Given the description of an element on the screen output the (x, y) to click on. 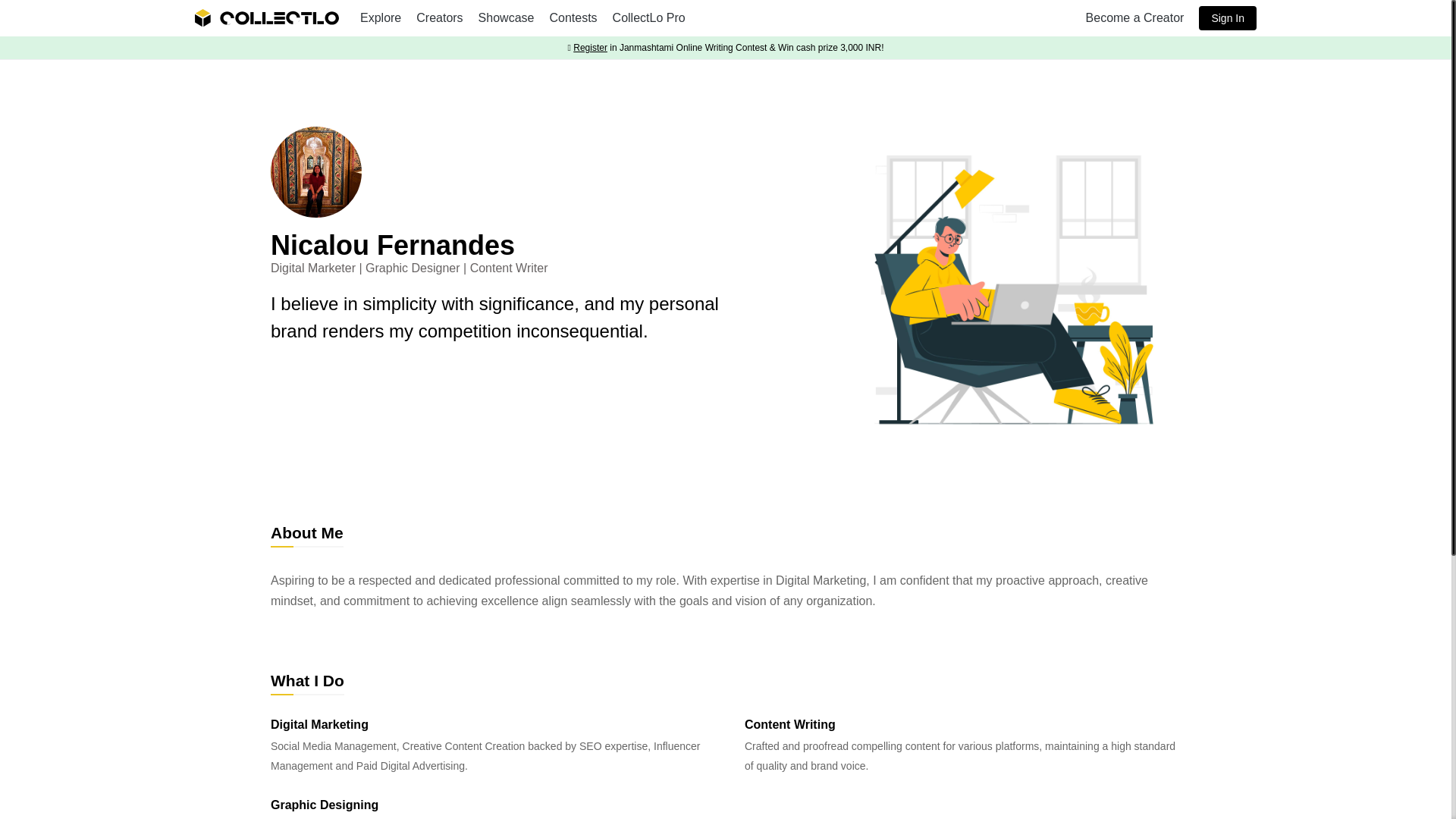
Nicalou Fernandes  portfolio banner (1013, 293)
Explore (380, 18)
Sign In (1227, 17)
Nicalou Fernandes  (315, 171)
Creators (439, 18)
Become a Creator (1135, 18)
CollectLo Pro (648, 18)
Contests (572, 18)
Showcase (506, 18)
